Given the description of an element on the screen output the (x, y) to click on. 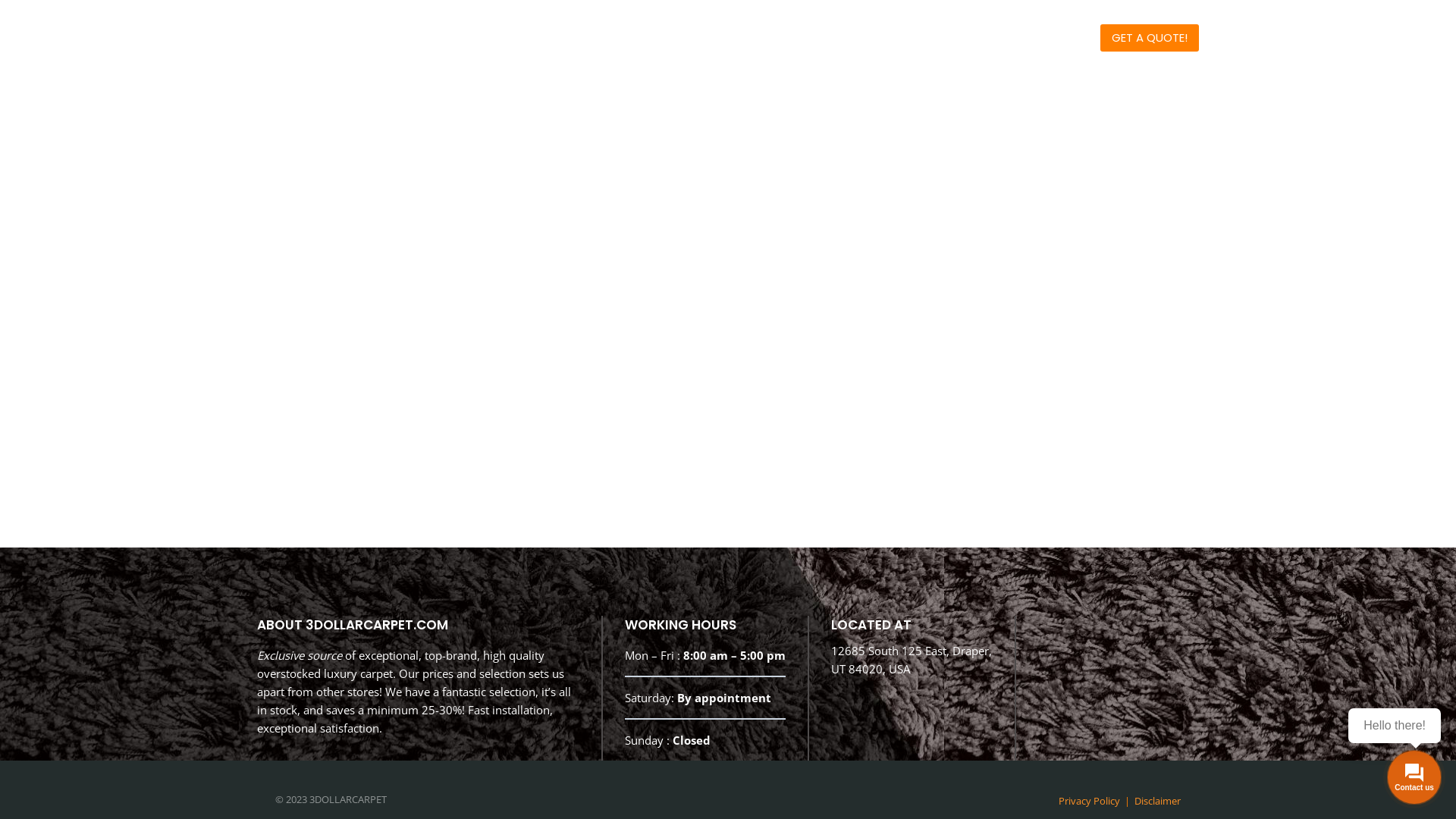
UTAH CARPET Element type: text (697, 37)
FAQ Element type: text (986, 37)
GET A QUOTE! Element type: text (1149, 37)
Privacy Policy Element type: text (1089, 800)
CARPET Element type: text (789, 37)
VINYL Element type: text (855, 37)
Disclaimer Element type: text (1157, 800)
3DOLLARCARPET
Utah Carpet Warehouse Element type: text (336, 38)
CONTACT Element type: text (1051, 37)
REVIEWS Element type: text (924, 37)
